Given the description of an element on the screen output the (x, y) to click on. 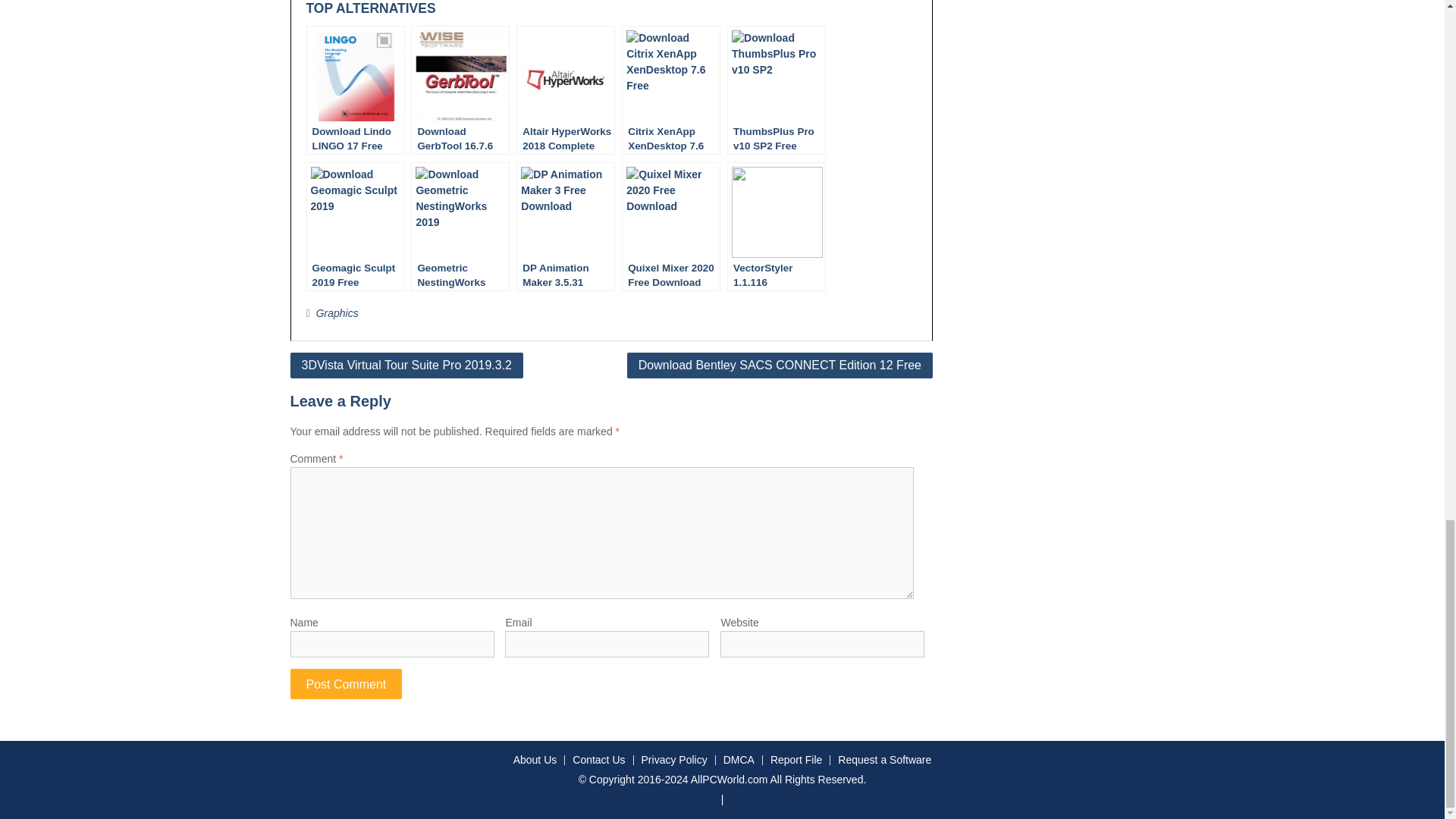
DMCA (737, 759)
Download Bentley SACS CONNECT Edition 12 Free (780, 365)
About Us (534, 759)
Contact Us (597, 759)
Post Comment (345, 684)
Request a Software (884, 759)
Report File (795, 759)
Graphics (336, 313)
3DVista Virtual Tour Suite Pro 2019.3.2 (405, 365)
Privacy Policy (673, 759)
